Given the description of an element on the screen output the (x, y) to click on. 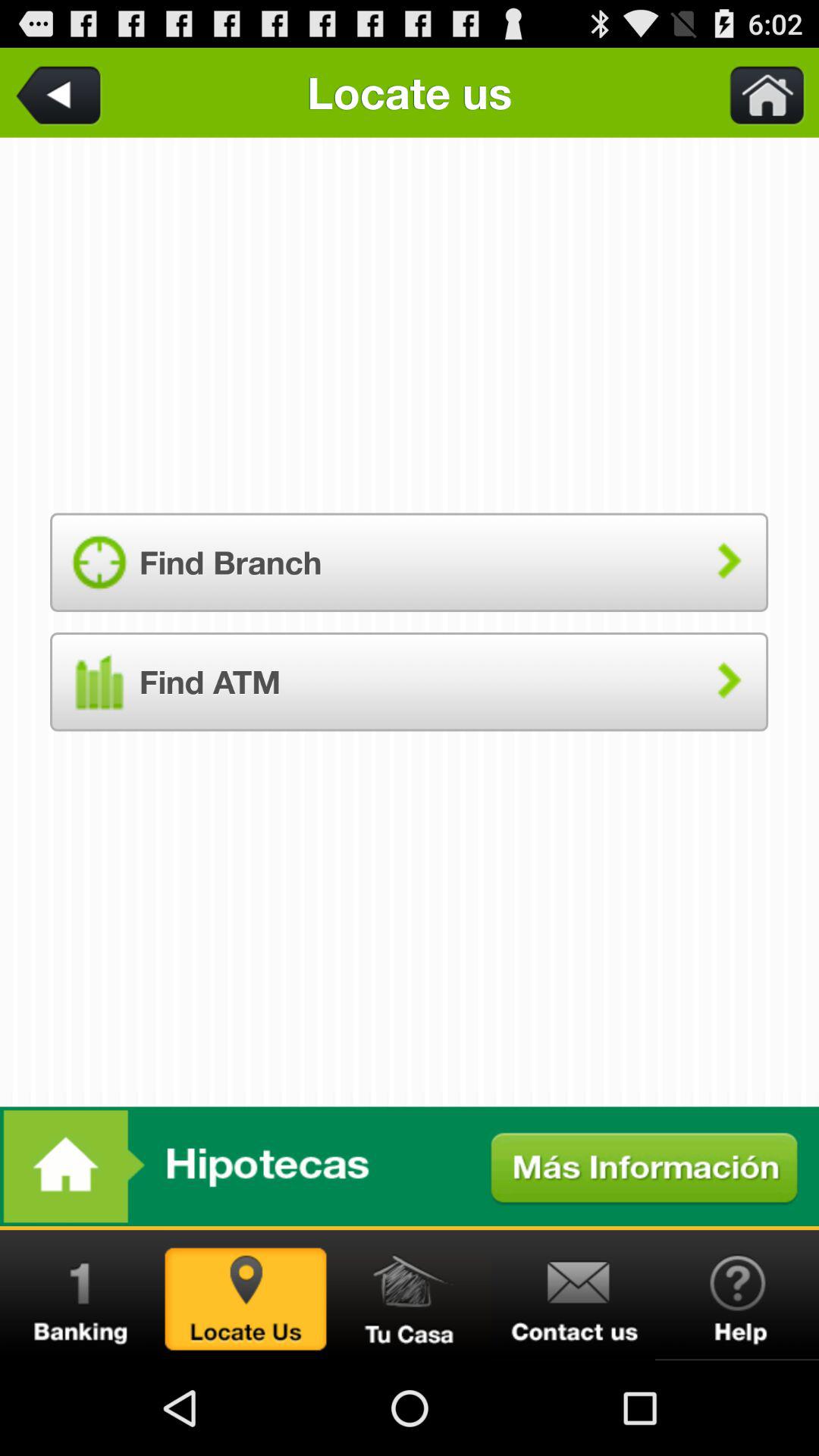
contact us (573, 1295)
